Given the description of an element on the screen output the (x, y) to click on. 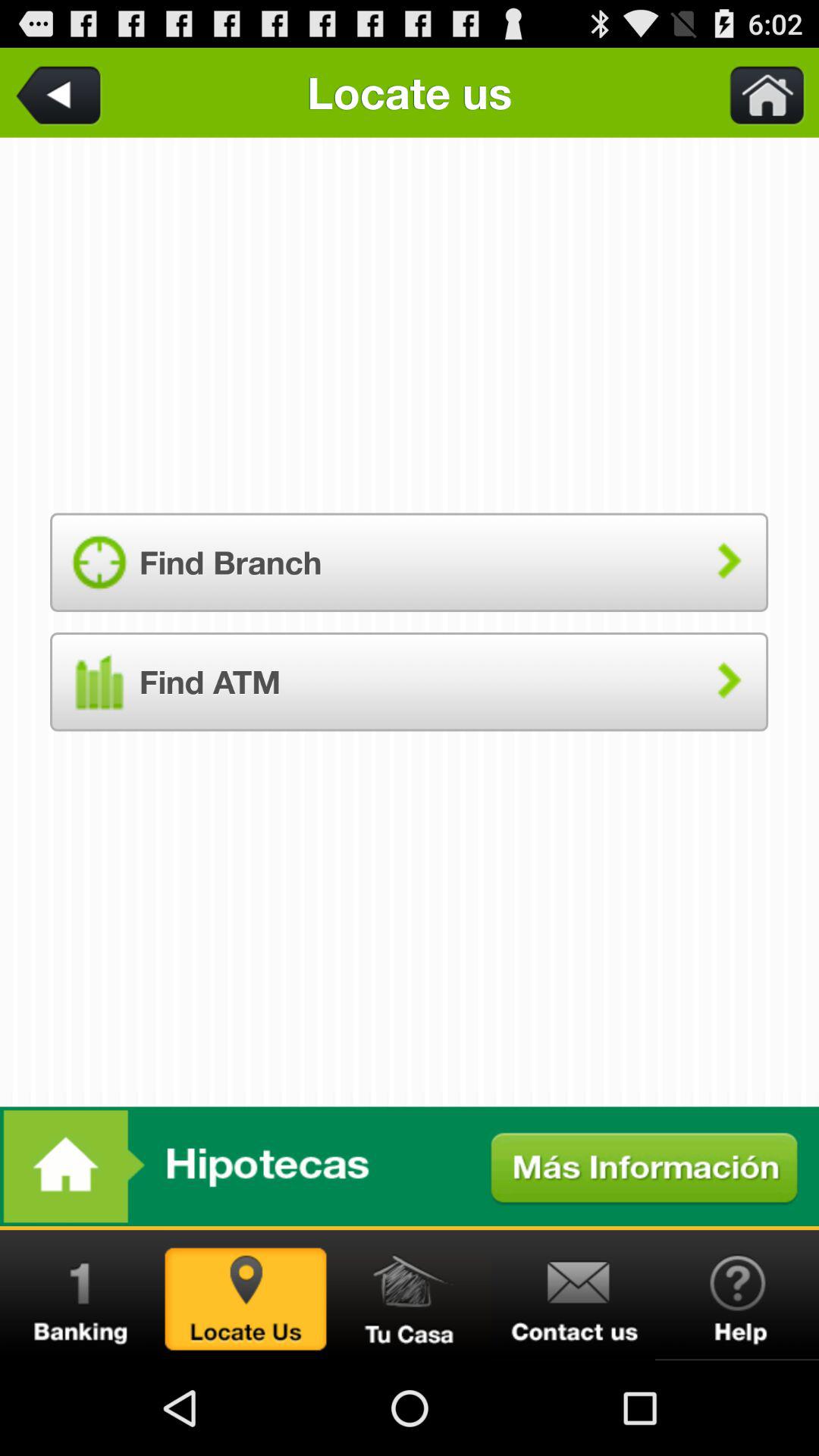
contact us (573, 1295)
